Given the description of an element on the screen output the (x, y) to click on. 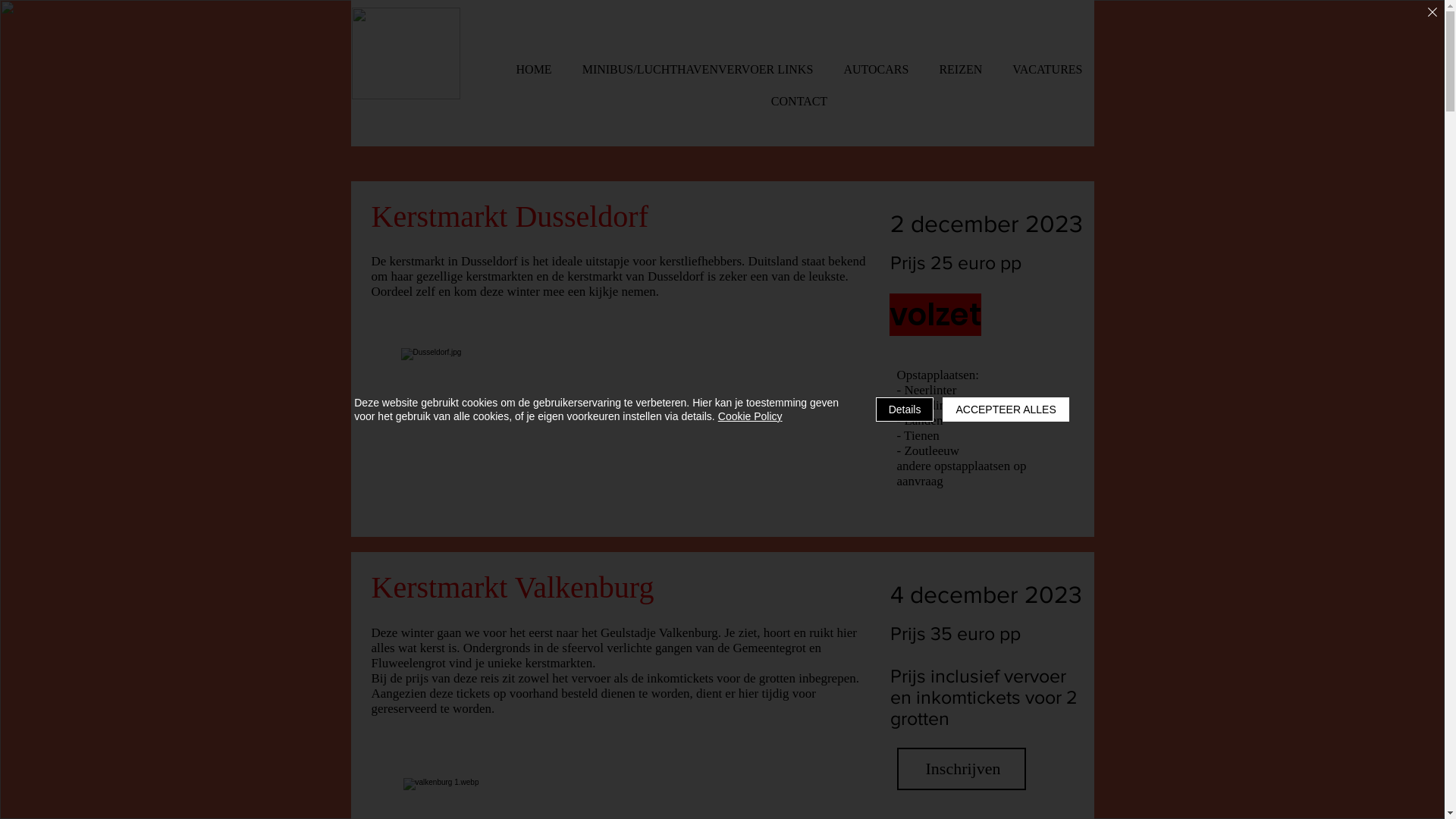
Cookie Policy Element type: text (750, 416)
AUTOCARS Element type: text (875, 69)
Details Element type: text (904, 409)
Inschrijven Element type: text (960, 768)
MINIBUS/LUCHTHAVENVERVOER LINKS Element type: text (698, 69)
ACCEPTEER ALLES Element type: text (1005, 409)
VACATURES Element type: text (1047, 69)
REIZEN Element type: text (960, 69)
HOME Element type: text (534, 69)
CONTACT Element type: text (799, 101)
